Given the description of an element on the screen output the (x, y) to click on. 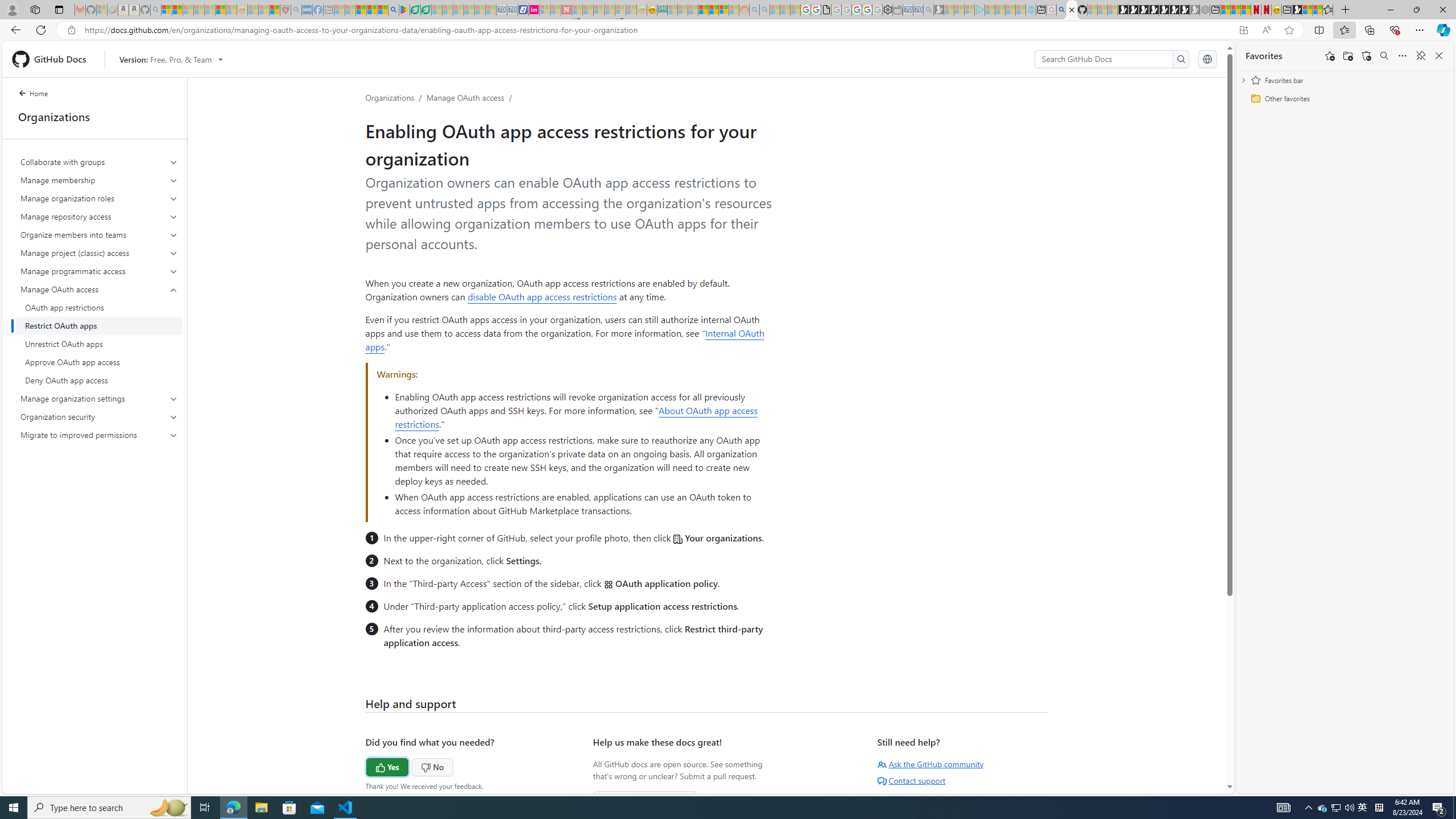
Scroll to top (1200, 768)
No (410, 765)
Manage project (classic) access (99, 253)
Terms of Use Agreement (414, 9)
Manage membership (99, 180)
Wildlife - MSN (1307, 9)
Manage OAuth access (99, 334)
